Given the description of an element on the screen output the (x, y) to click on. 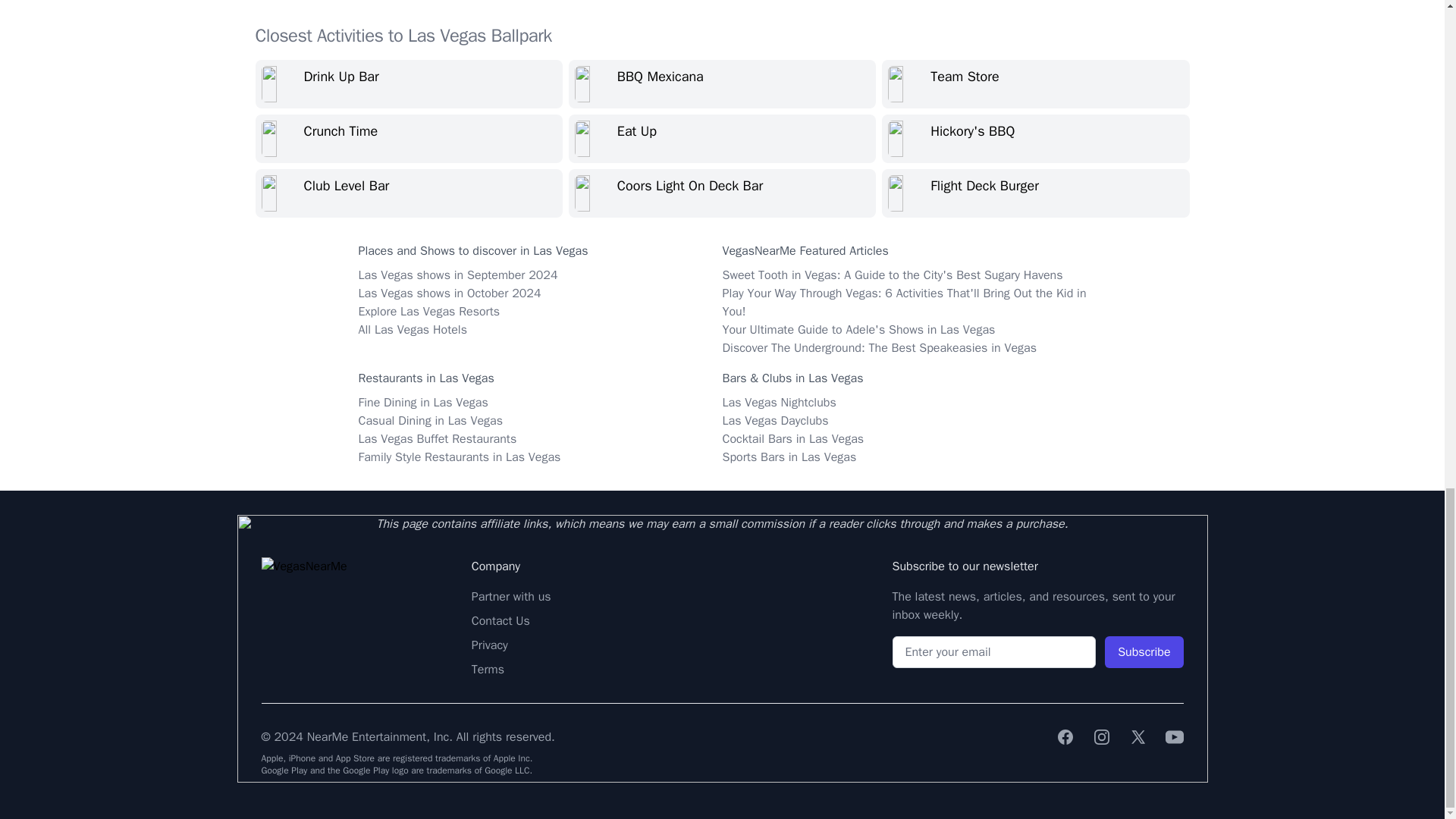
Las Vegas shows in September 2024 (457, 274)
Team Store (1035, 83)
Flight Deck Burger (1035, 192)
BBQ Mexicana (722, 83)
Club Level Bar (408, 192)
Eat Up (722, 138)
Crunch Time (408, 138)
Hickory's BBQ (1035, 138)
Drink Up Bar (408, 83)
Coors Light On Deck Bar (722, 192)
